Given the description of an element on the screen output the (x, y) to click on. 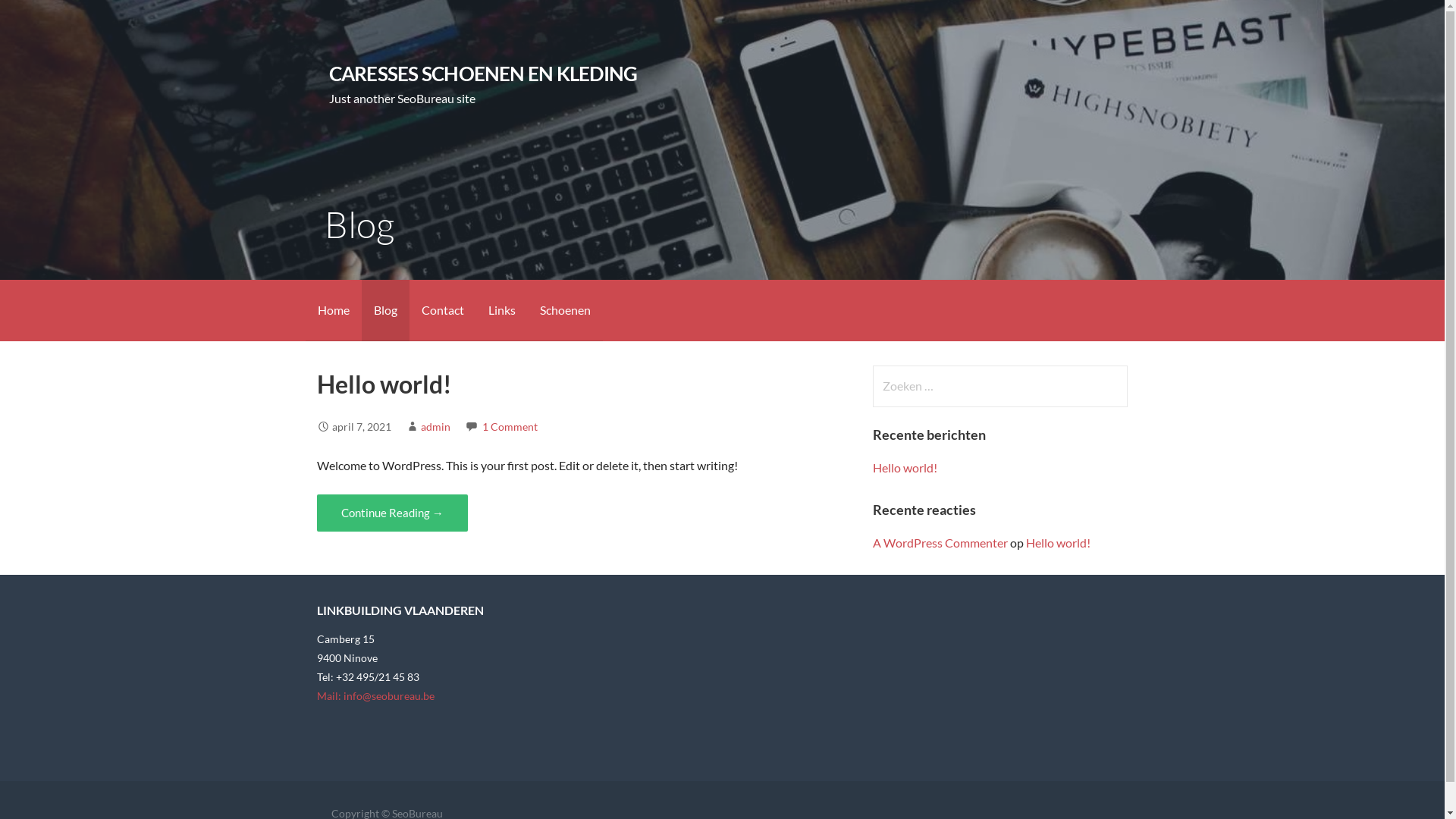
Hello world! Element type: text (904, 467)
Links Element type: text (501, 310)
Hello world! Element type: text (1058, 542)
Zoeken Element type: text (42, 18)
Contact Element type: text (442, 310)
A WordPress Commenter Element type: text (939, 542)
Hello world! Element type: text (383, 383)
CARESSES SCHOENEN EN KLEDING Element type: text (483, 73)
admin Element type: text (435, 426)
Home Element type: text (332, 310)
Schoenen Element type: text (564, 310)
Blog Element type: text (384, 310)
Mail: info@seobureau.be Element type: text (375, 695)
1 Comment Element type: text (509, 426)
